Given the description of an element on the screen output the (x, y) to click on. 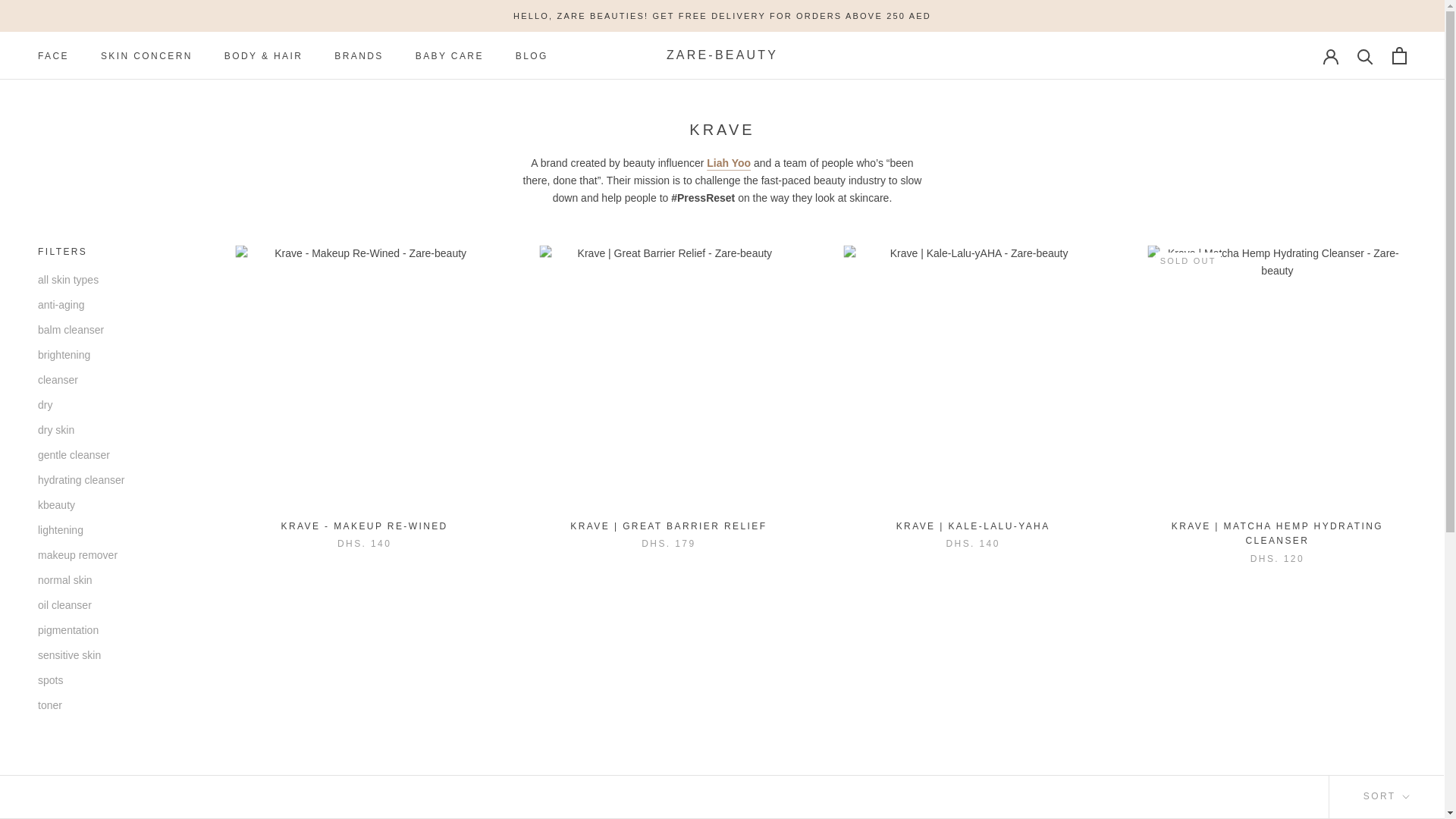
Liah Yoo YouTube (728, 162)
